Given the description of an element on the screen output the (x, y) to click on. 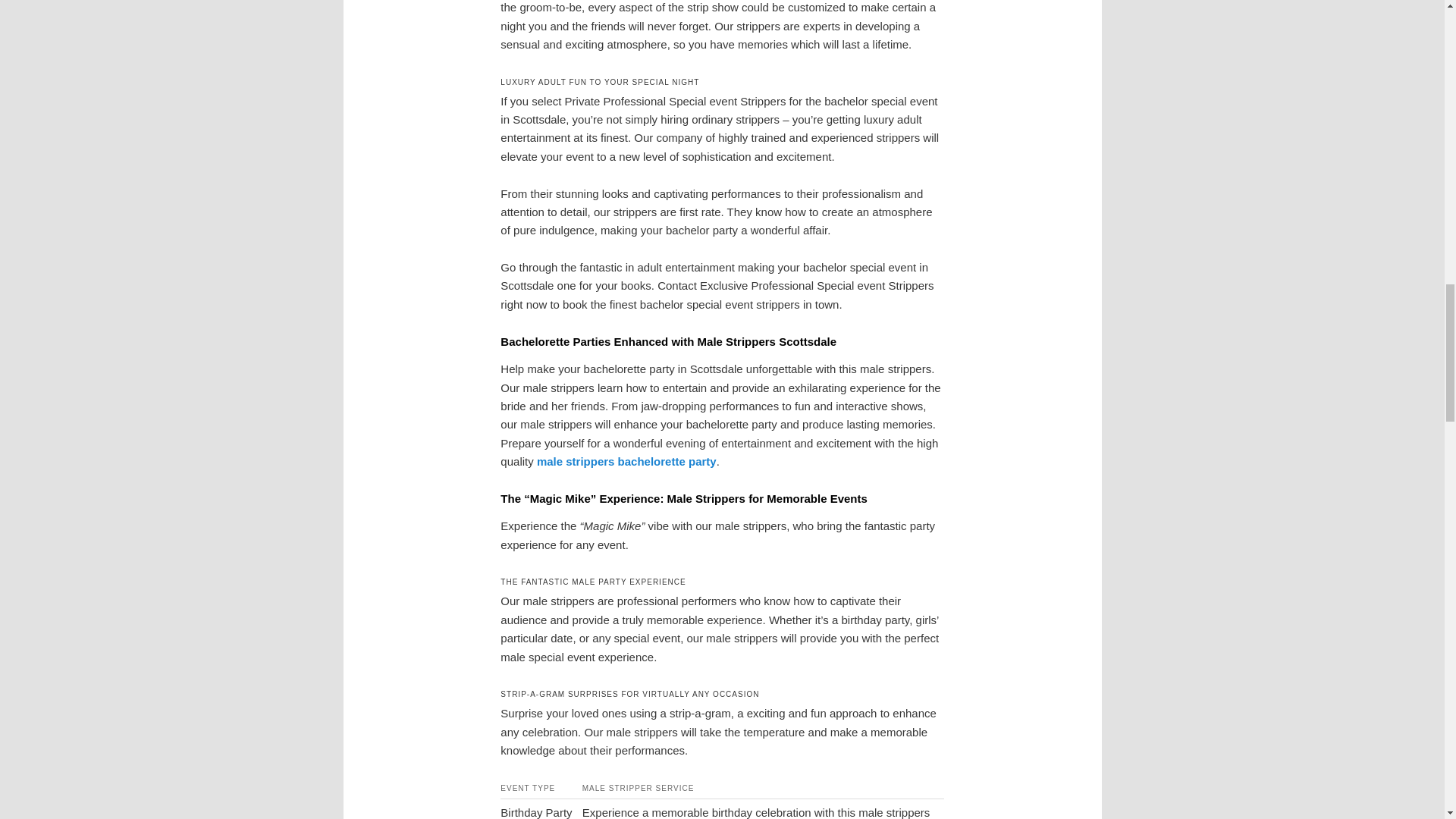
male strippers bachelorette party (626, 461)
